Given the description of an element on the screen output the (x, y) to click on. 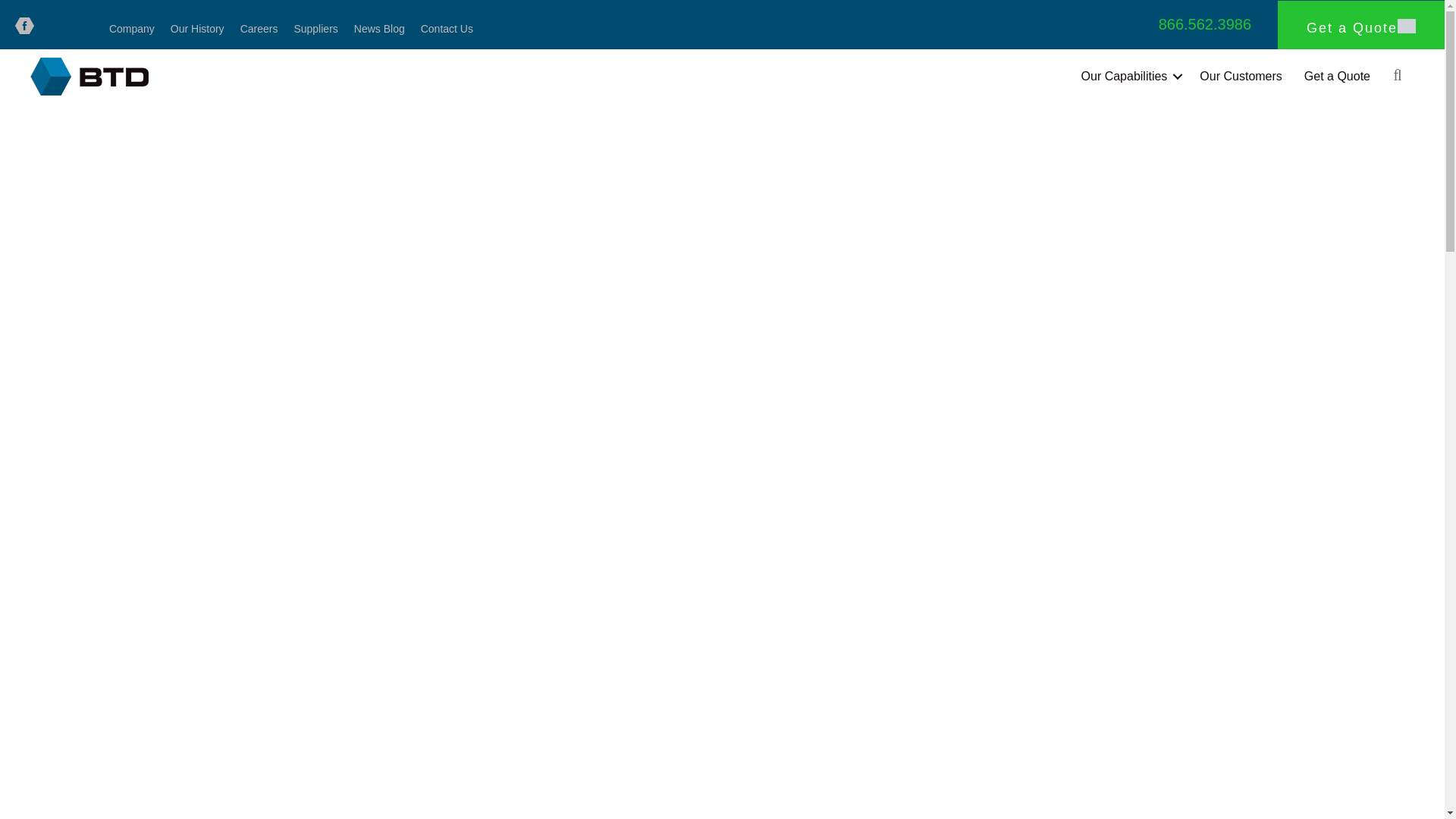
866.562.3986 (1204, 23)
Our History (197, 29)
Company (131, 29)
Get a Quote (1337, 76)
Contact Us (446, 29)
Our Customers (1240, 76)
News Blog (378, 29)
Suppliers (315, 29)
btd-mfg-logo (89, 76)
Our Capabilities (1129, 76)
